Given the description of an element on the screen output the (x, y) to click on. 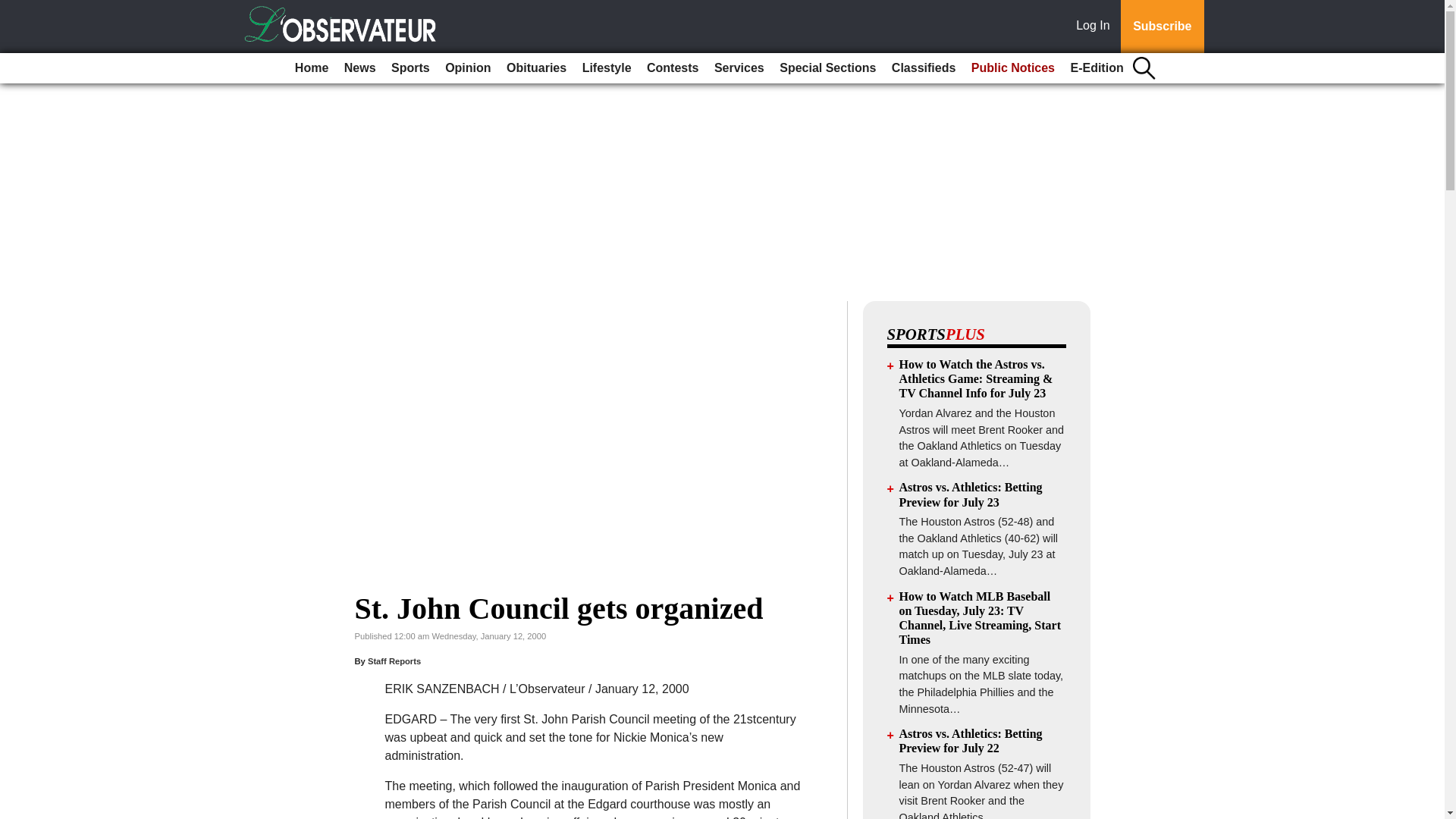
Contests (672, 68)
Opinion (467, 68)
Special Sections (827, 68)
Log In (1095, 26)
E-Edition (1096, 68)
Astros vs. Athletics: Betting Preview for July 23 (970, 493)
Staff Reports (394, 660)
Subscribe (1162, 26)
Go (13, 9)
Sports (410, 68)
Astros vs. Athletics: Betting Preview for July 22 (970, 740)
Services (738, 68)
Obituaries (536, 68)
Home (311, 68)
